Given the description of an element on the screen output the (x, y) to click on. 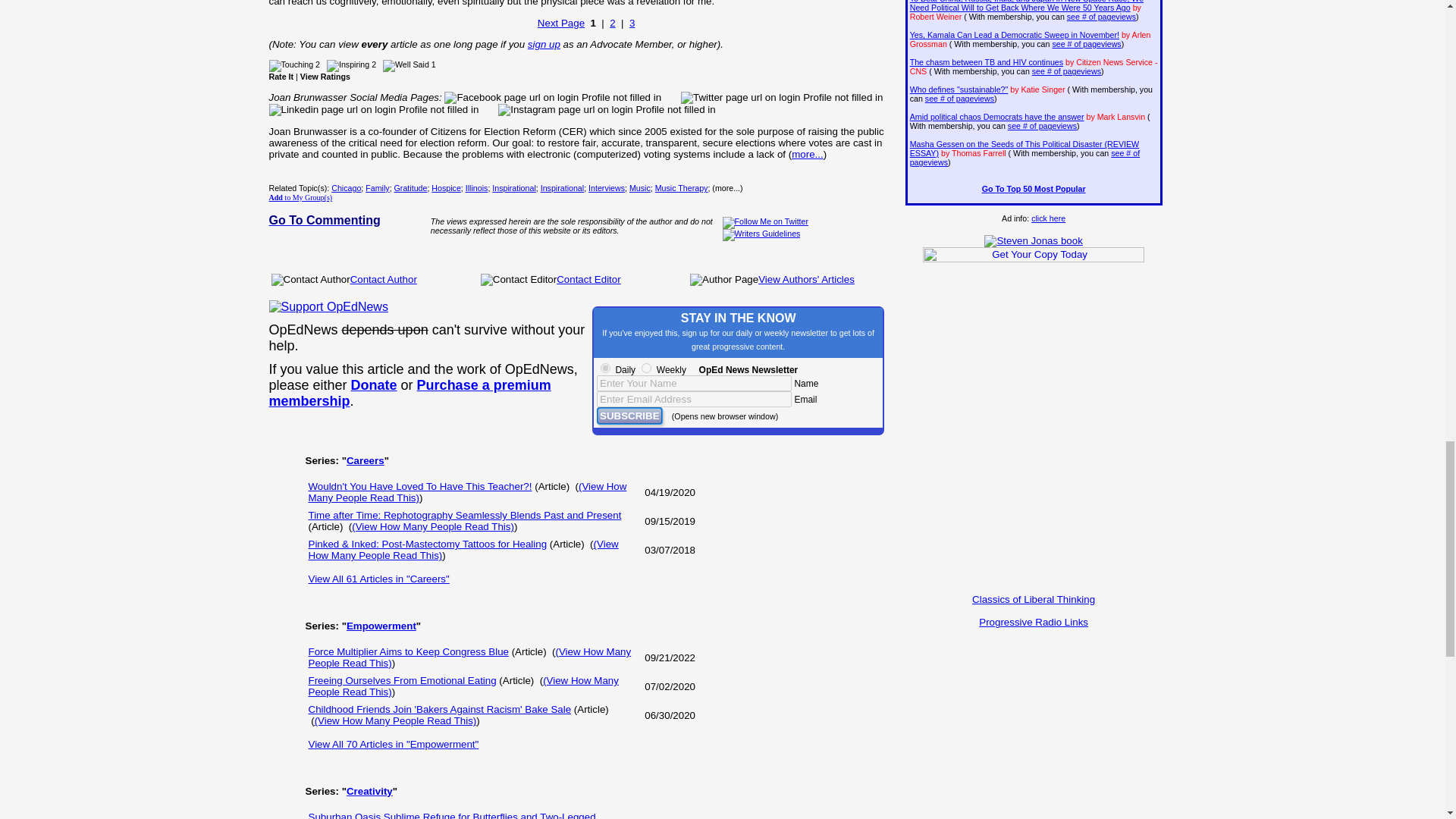
Instagram page url on login Profile not filled in (605, 110)
Inspiring (347, 65)
Facebook page url on login Profile not filled in (552, 97)
Touching (290, 65)
SUBSCRIBE (629, 416)
Well Said (405, 65)
Linkedin page url on login Profile not filled in (373, 110)
View Ratings (324, 76)
Weekly (646, 368)
Twitter page url on login Profile not filled in (781, 97)
Enter Your Name (694, 383)
Enter Email Address (694, 399)
Rate It (280, 76)
Daily (604, 368)
sign up (543, 43)
